Given the description of an element on the screen output the (x, y) to click on. 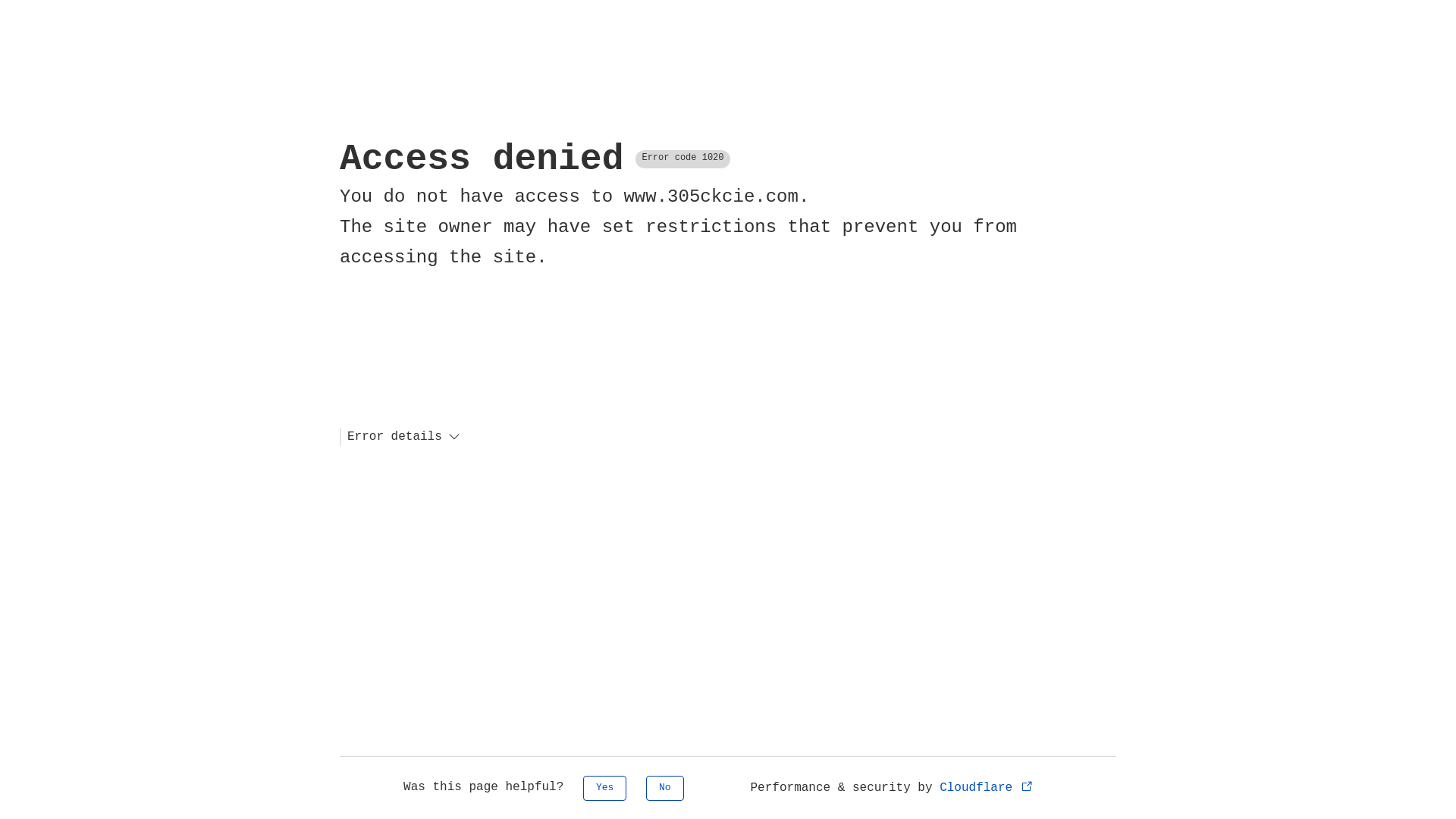
Cloudflare Element type: text (986, 787)
Opens in new tab Element type: hover (1027, 785)
Yes Element type: text (604, 787)
No Element type: text (665, 787)
